Given the description of an element on the screen output the (x, y) to click on. 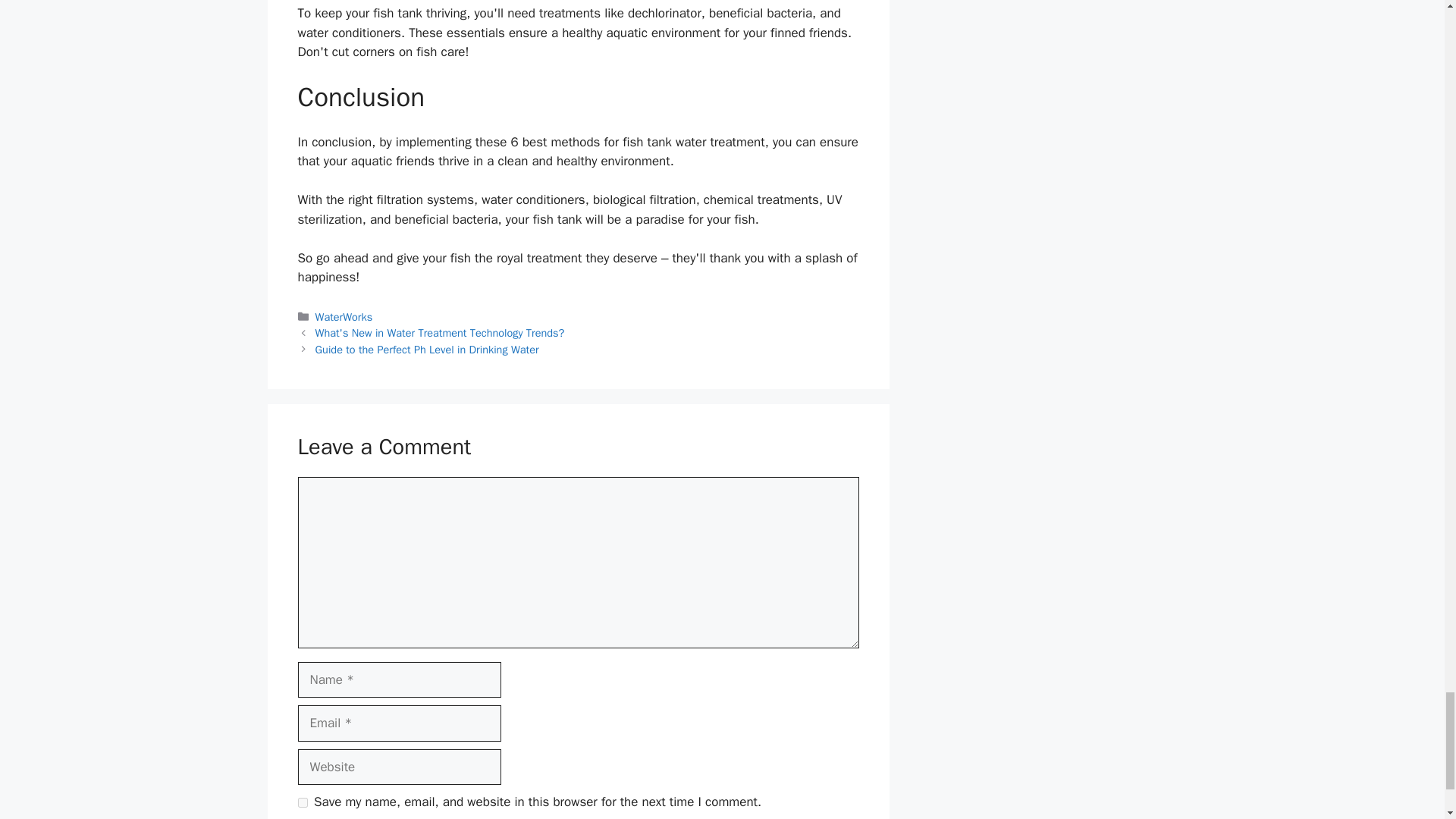
What's New in Water Treatment Technology Trends? (439, 332)
Previous (439, 332)
Guide to the Perfect Ph Level in Drinking Water (426, 349)
yes (302, 802)
WaterWorks (343, 316)
Next (426, 349)
